Given the description of an element on the screen output the (x, y) to click on. 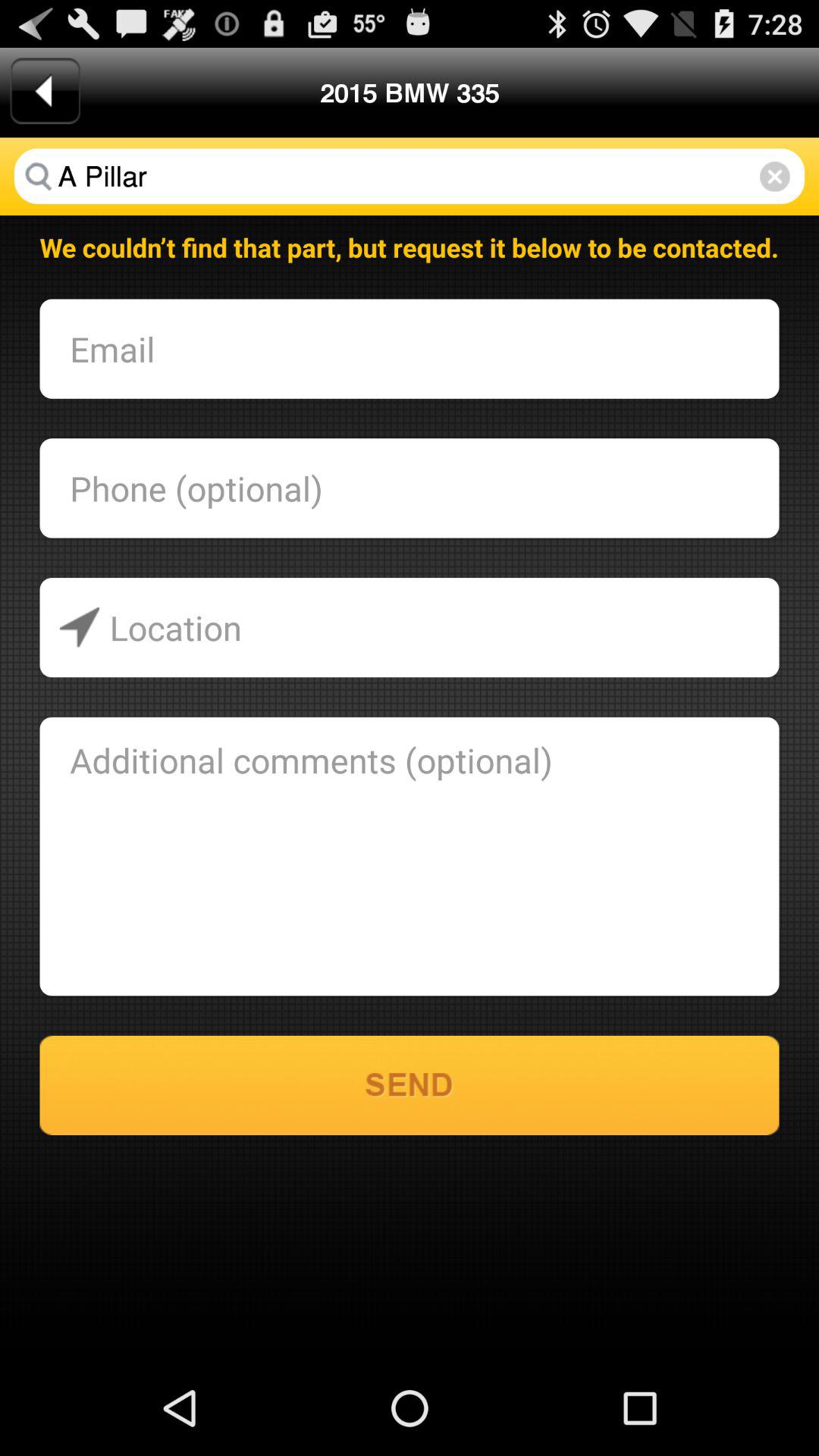
choose the item above we couldn t icon (774, 176)
